Given the description of an element on the screen output the (x, y) to click on. 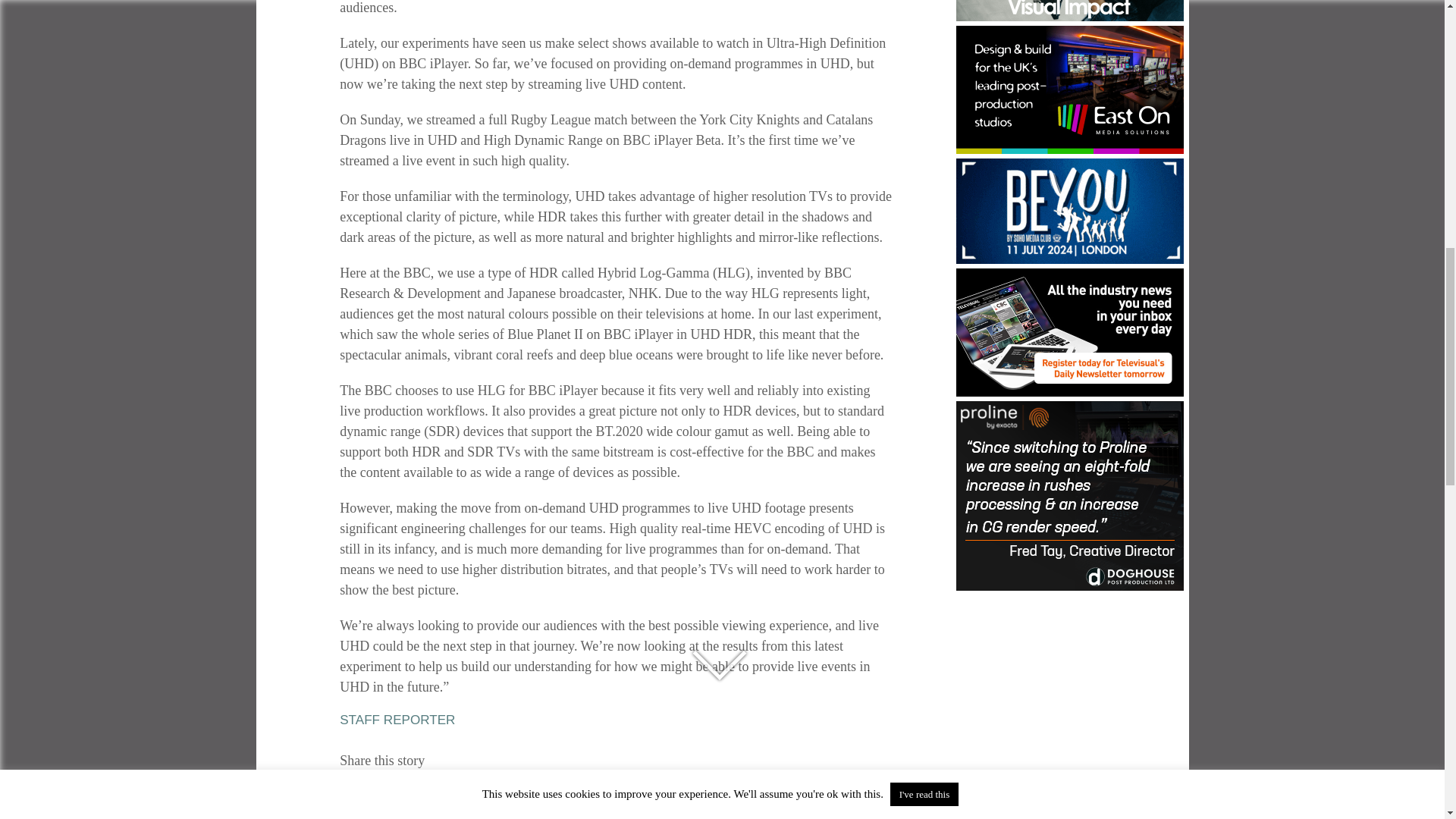
STAFF REPORTER (396, 719)
LinkedIn (408, 798)
WhatsApp (462, 798)
X (435, 798)
Email (489, 798)
Facebook (380, 798)
